Given the description of an element on the screen output the (x, y) to click on. 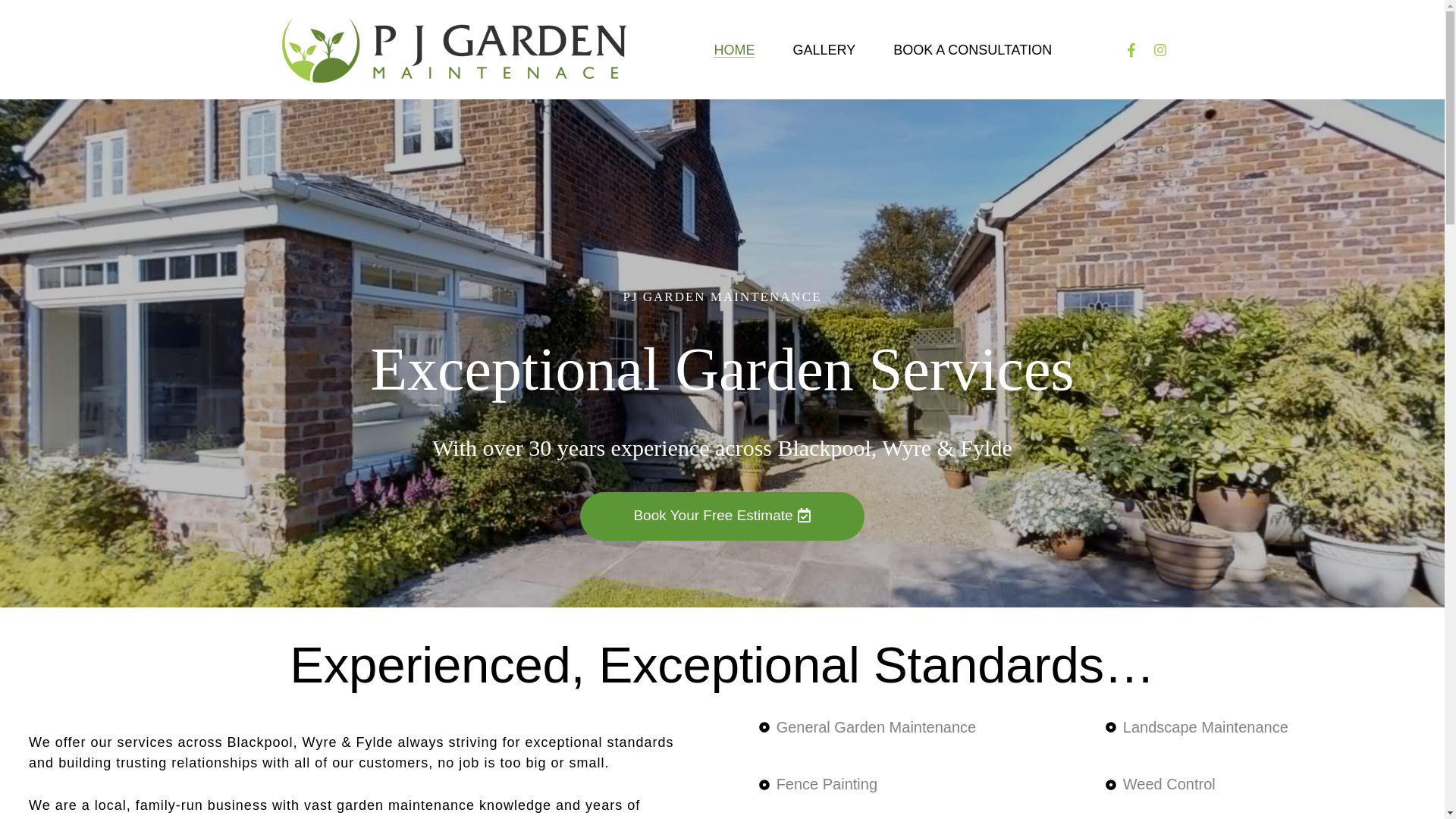
HOME (733, 49)
Instagram (1160, 49)
GALLERY (824, 49)
Book Your Free Estimate (721, 516)
Facebook-f (1131, 49)
PJ Garden Maintenance Logo Black (452, 49)
BOOK A CONSULTATION (972, 49)
